Given the description of an element on the screen output the (x, y) to click on. 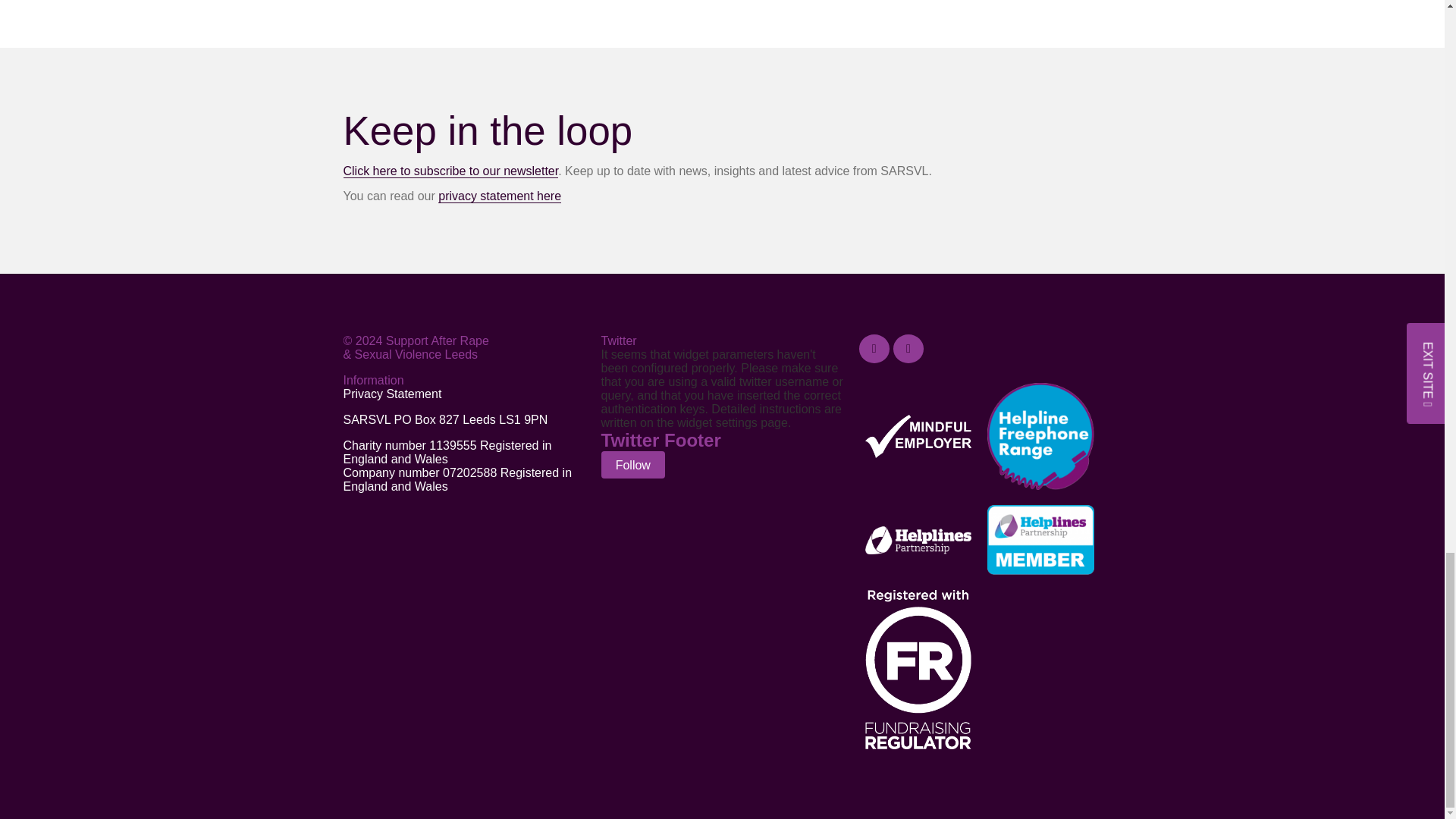
privacy statement here (499, 196)
Click here to subscribe to our newsletter (449, 171)
Privacy Statement (391, 393)
